Given the description of an element on the screen output the (x, y) to click on. 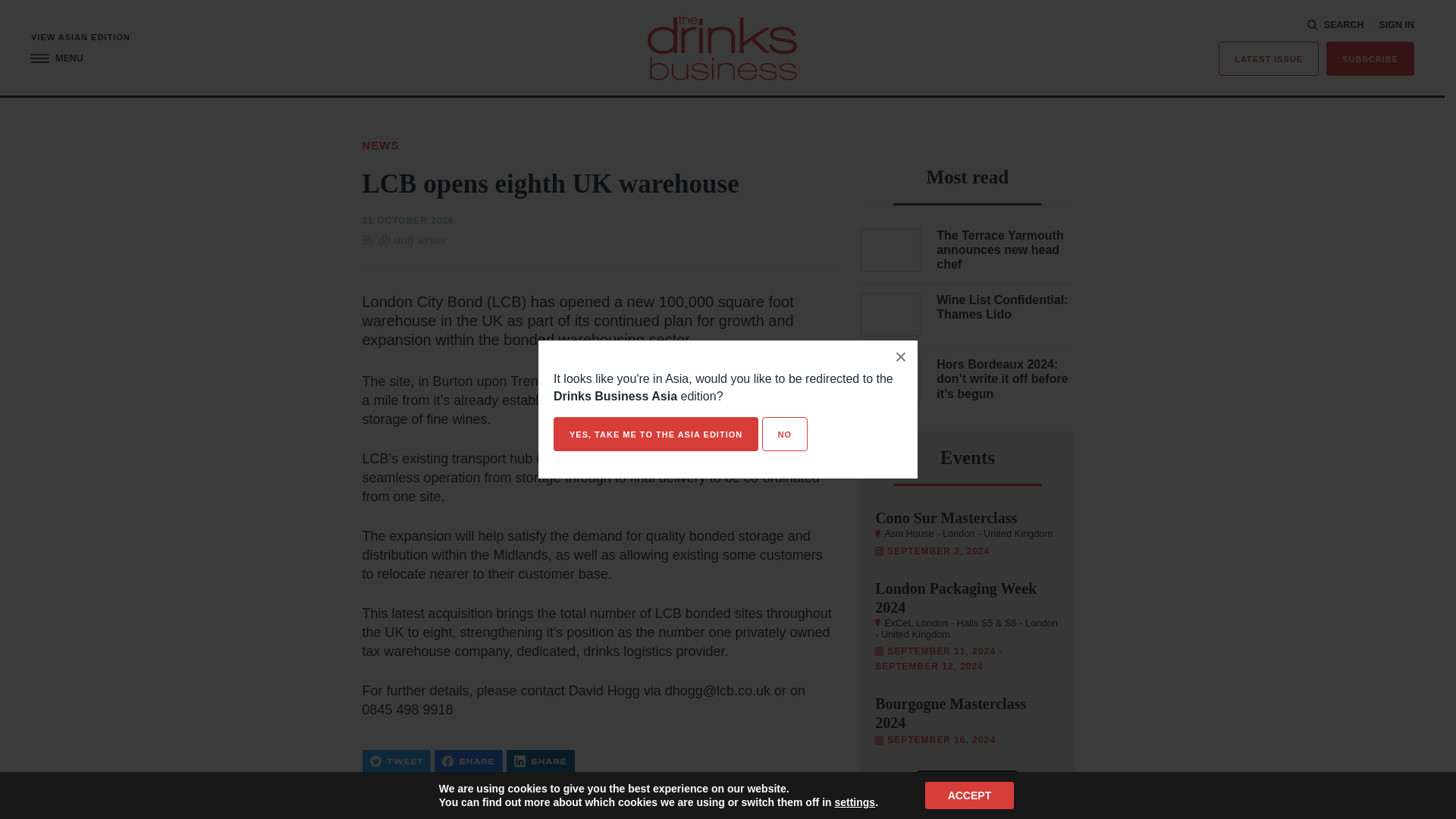
VIEW ASIAN EDITION (80, 37)
YES, TAKE ME TO THE ASIA EDITION (655, 433)
NO (784, 433)
SUBSCRIBE (1369, 58)
LATEST ISSUE (1268, 58)
The Drinks Business (721, 47)
SIGN IN (1395, 25)
